Given the description of an element on the screen output the (x, y) to click on. 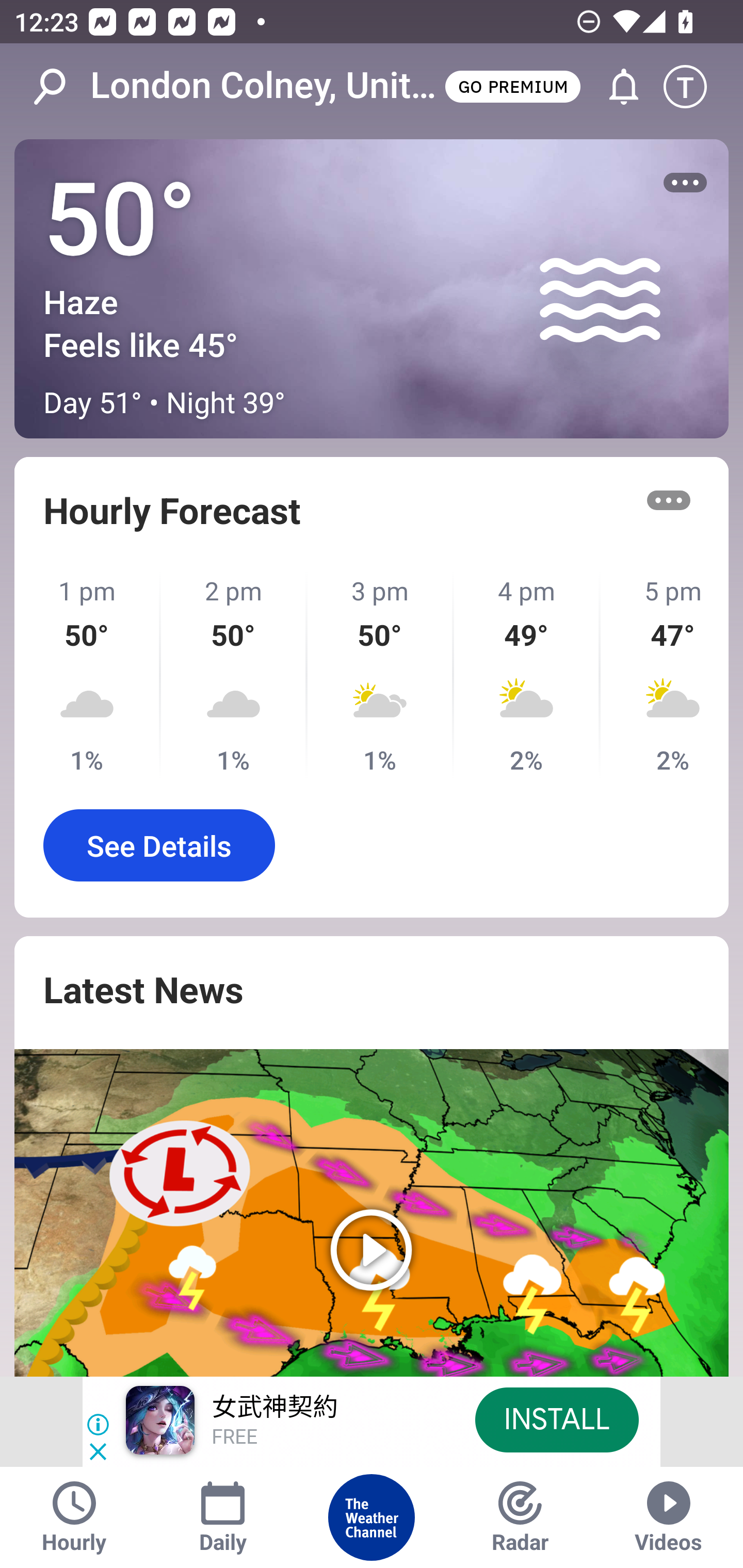
Search (59, 86)
Go to Alerts and Notifications (614, 86)
Setting icon T (694, 86)
London Colney, United Kingdom (265, 85)
GO PREMIUM (512, 85)
More options (684, 182)
More options (668, 500)
1 pm 50° 1% (87, 674)
2 pm 50° 1% (234, 674)
3 pm 50° 1% (380, 674)
4 pm 49° 2% (526, 674)
5 pm 47° 2% (664, 674)
See Details (158, 845)
Play (371, 1212)
INSTALL (556, 1419)
女武神契約 (274, 1407)
FREE (234, 1437)
Hourly Tab Hourly (74, 1517)
Daily Tab Daily (222, 1517)
Radar Tab Radar (519, 1517)
Videos Tab Videos (668, 1517)
